Given the description of an element on the screen output the (x, y) to click on. 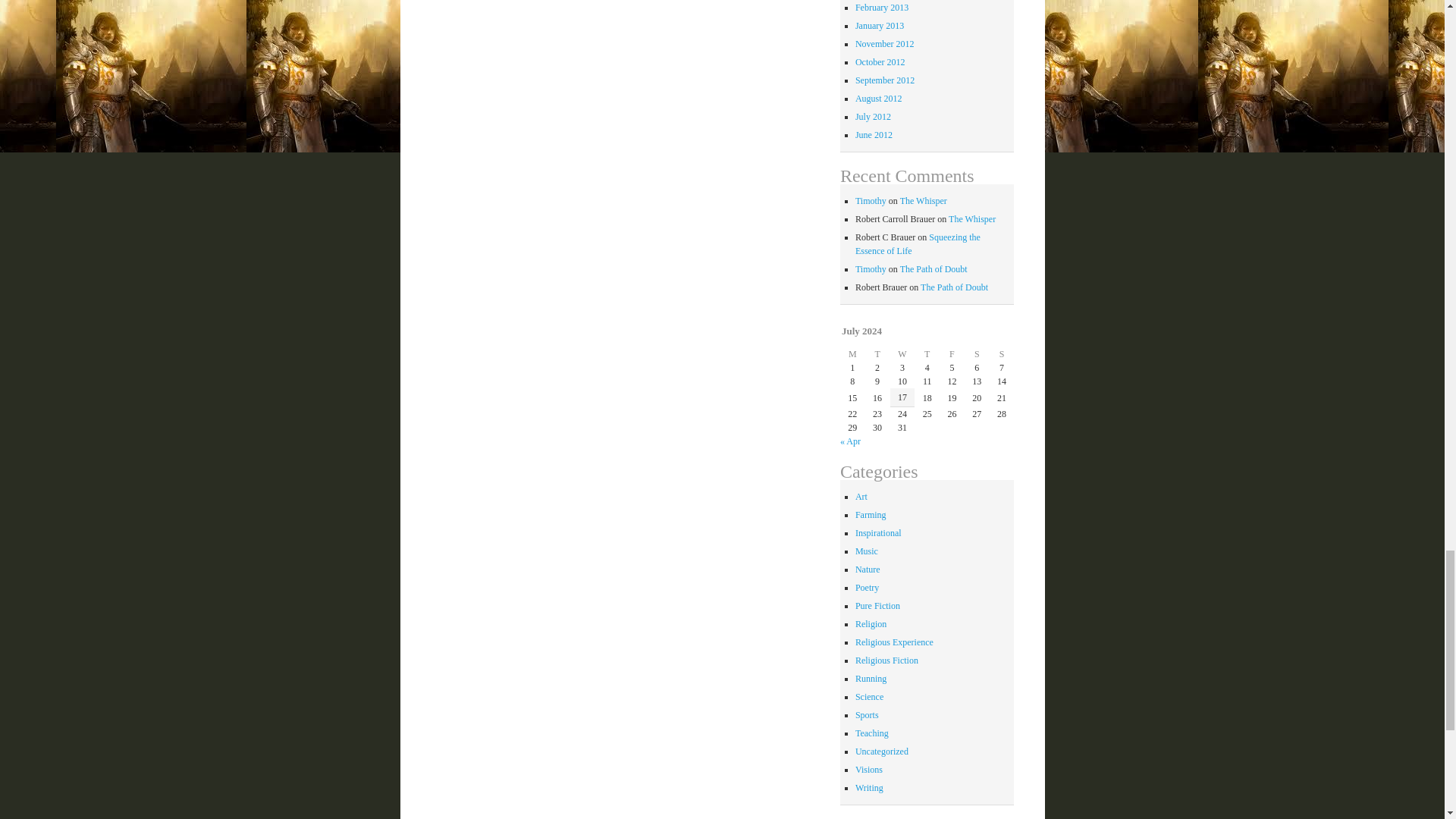
Monday (852, 354)
